Given the description of an element on the screen output the (x, y) to click on. 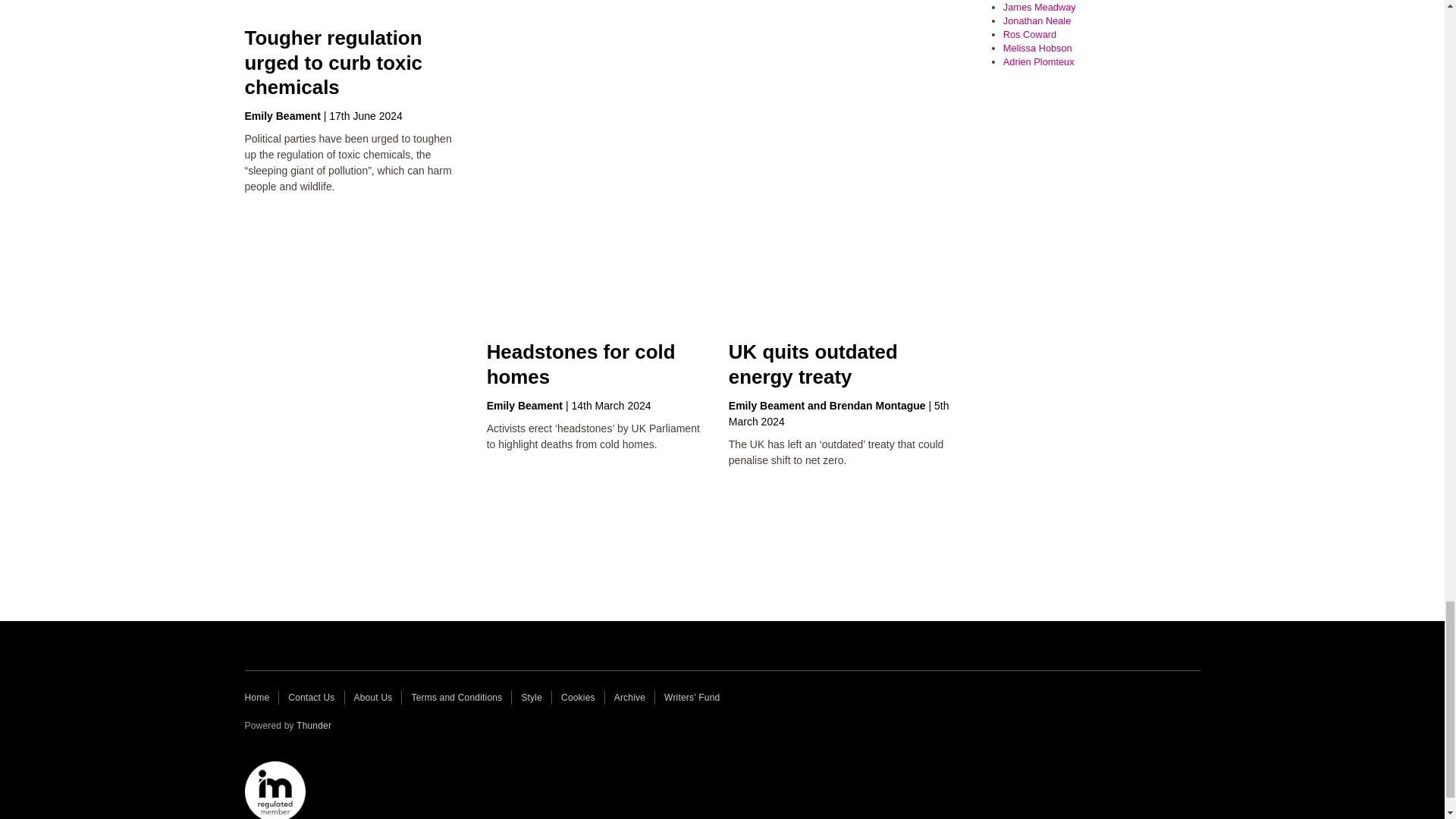
Monday, June 17, 2024 - 07:00 (366, 115)
Tuesday, March 5, 2024 - 07:00 (839, 413)
Thursday, March 14, 2024 - 06:59 (610, 405)
